Given the description of an element on the screen output the (x, y) to click on. 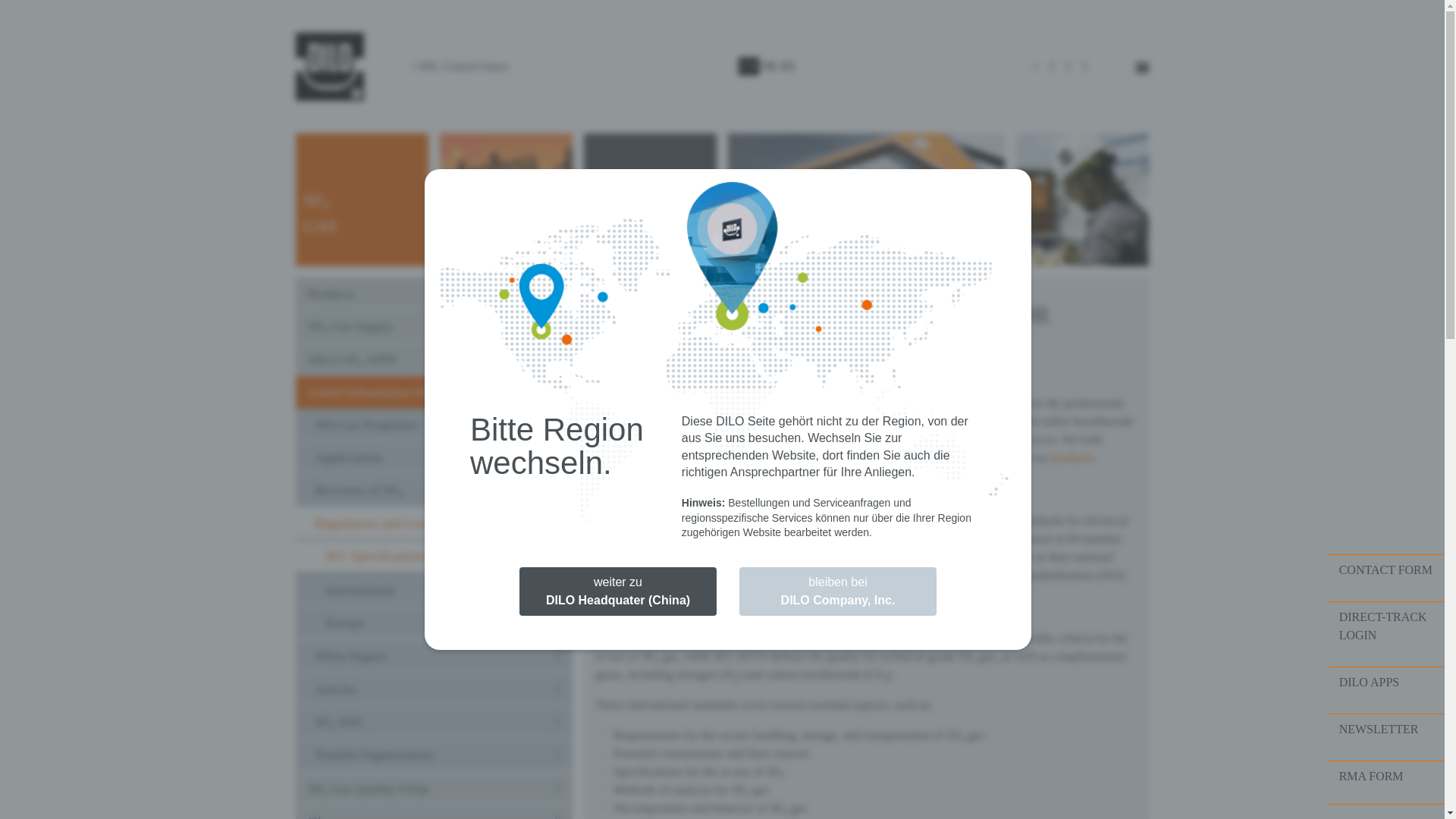
DILO Company, Inc (329, 66)
Spanisch (787, 66)
DILO- SF6 Gas Equipment  (505, 199)
